Given the description of an element on the screen output the (x, y) to click on. 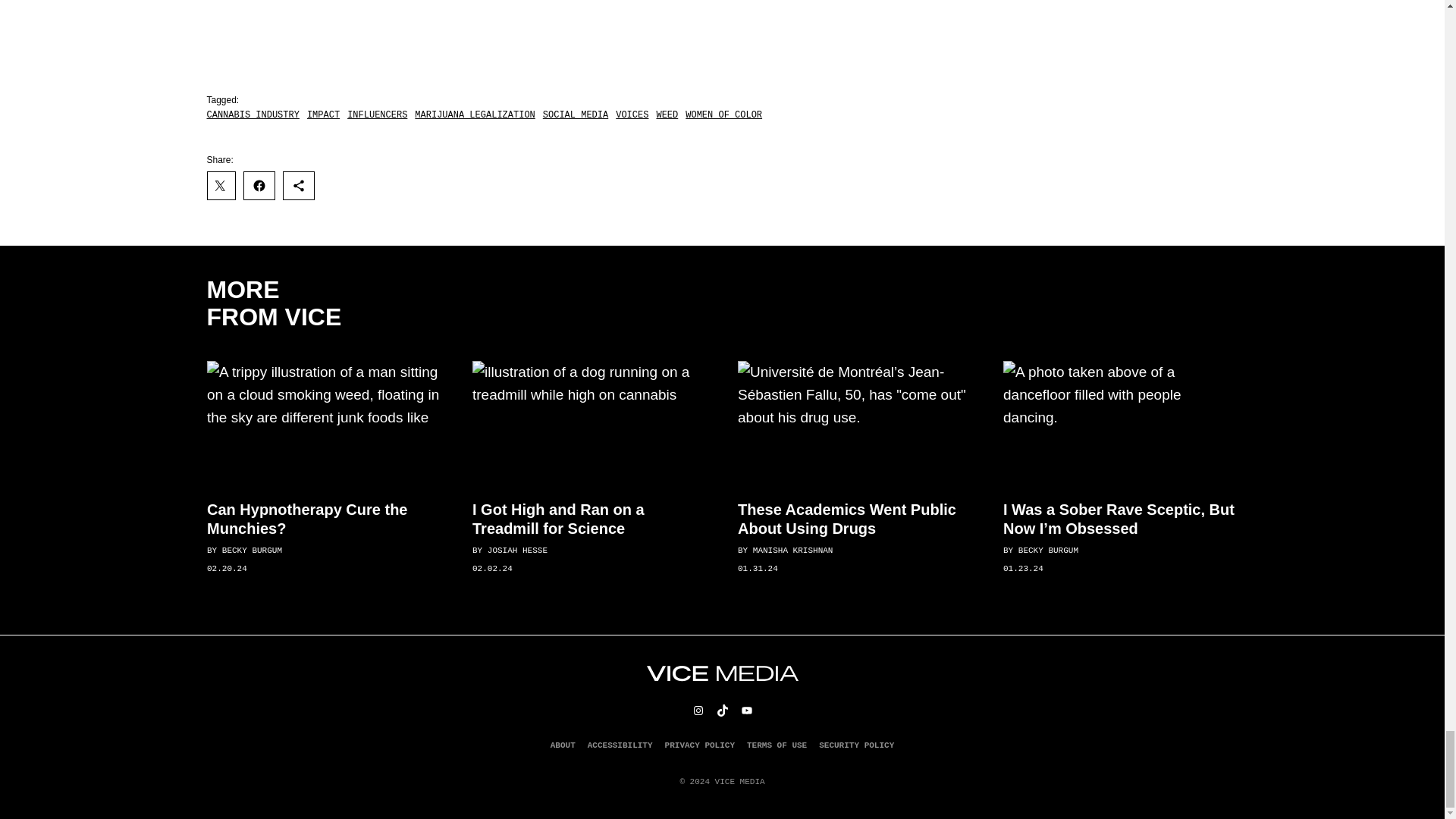
Posts by Becky Burgum (1047, 550)
Posts by Manisha Krishnan (792, 550)
Posts by Josiah Hesse (516, 550)
Posts by Becky Burgum (251, 550)
